Given the description of an element on the screen output the (x, y) to click on. 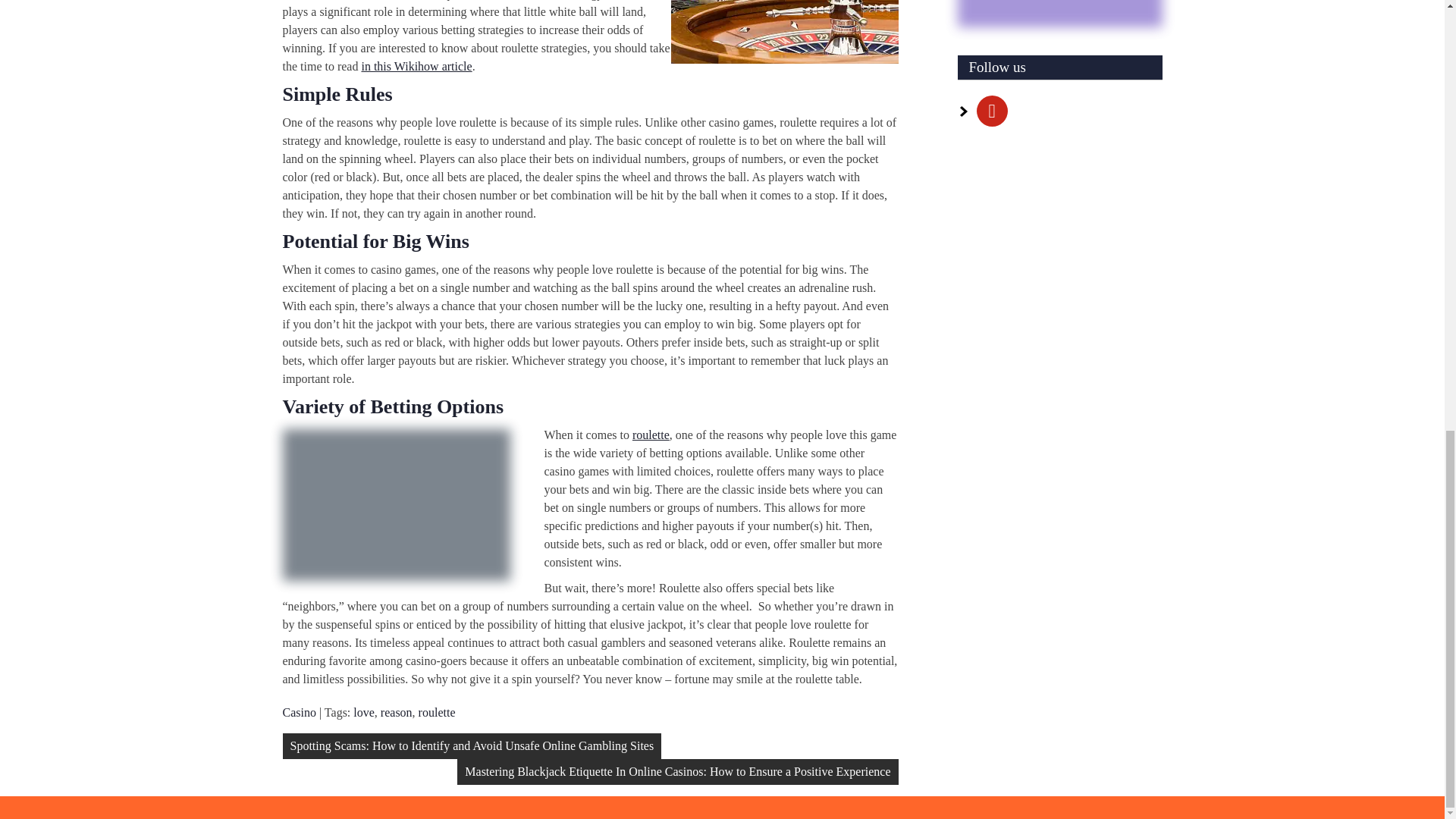
in this Wikihow article (416, 65)
Facebook (991, 109)
Casino (298, 712)
roulette (437, 712)
love (363, 712)
roulette (650, 434)
reason (396, 712)
pinterest (991, 109)
